Given the description of an element on the screen output the (x, y) to click on. 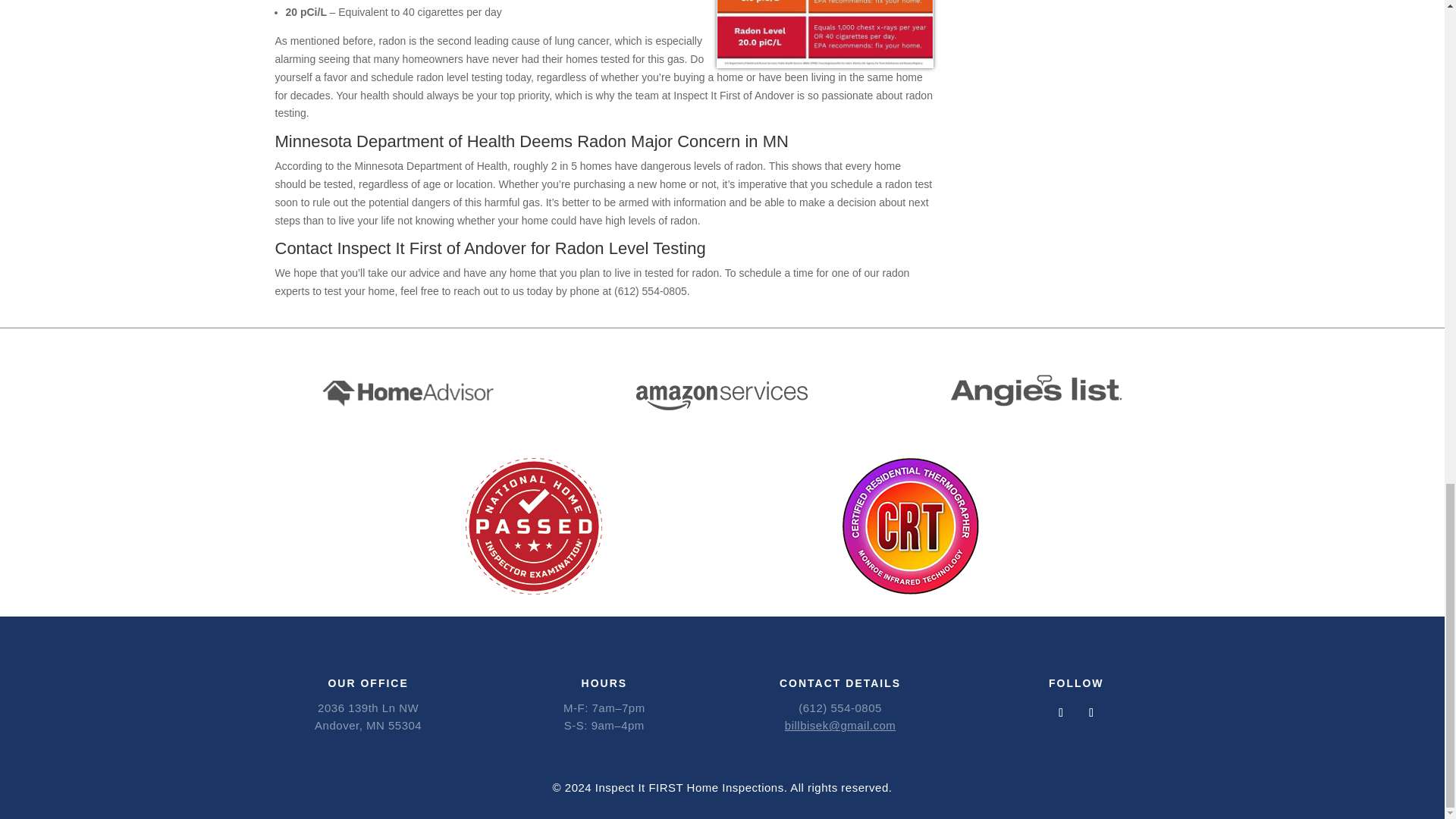
National Home Inspector Examination Passed Badge (533, 525)
Follow on LinkedIn (1090, 712)
Certified Residential Thermographer Badge (910, 525)
Follow on Facebook (1060, 712)
